Given the description of an element on the screen output the (x, y) to click on. 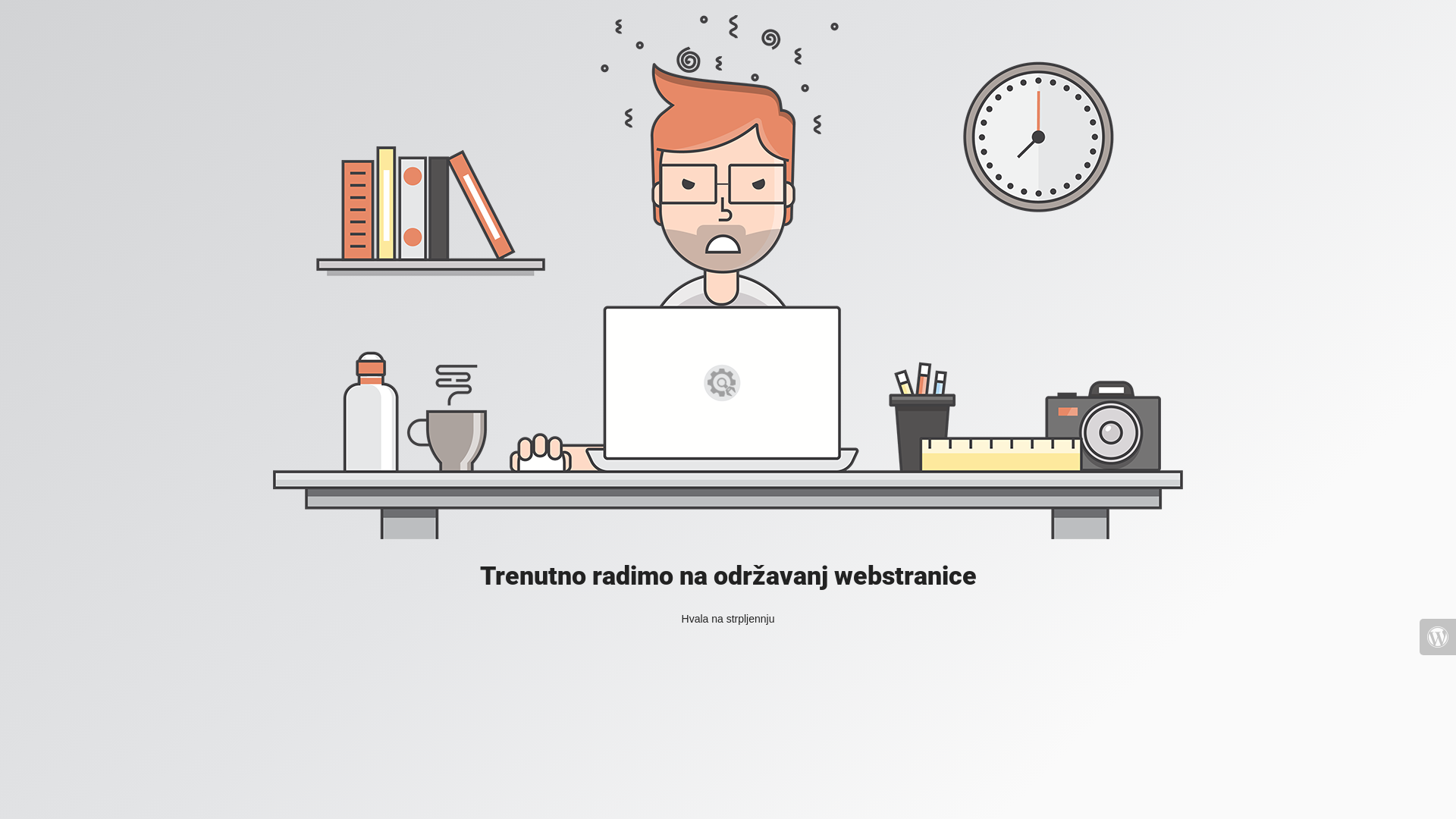
Mad Designer at work Element type: hover (728, 277)
